Given the description of an element on the screen output the (x, y) to click on. 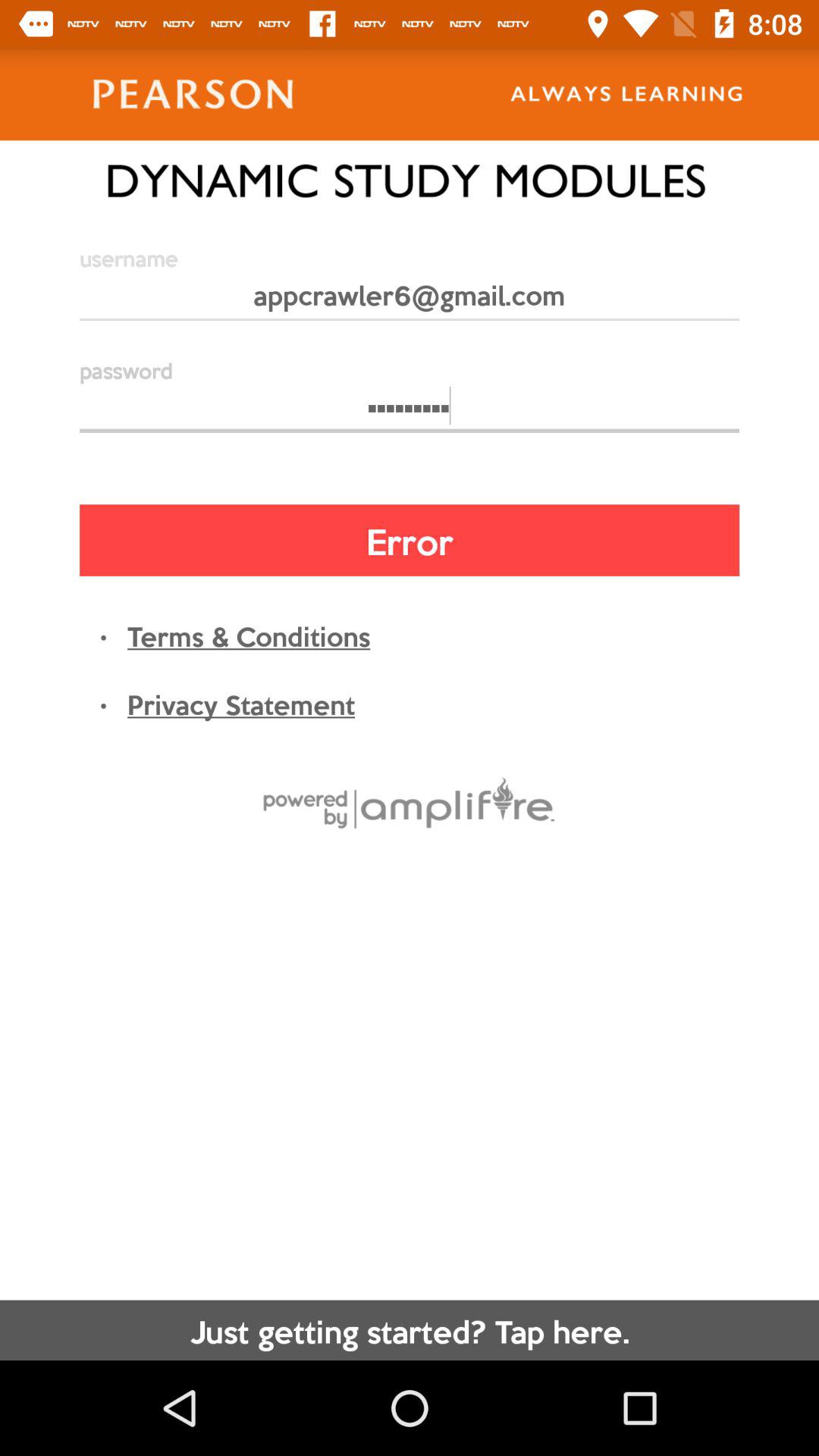
launch item below terms & conditions icon (240, 703)
